Given the description of an element on the screen output the (x, y) to click on. 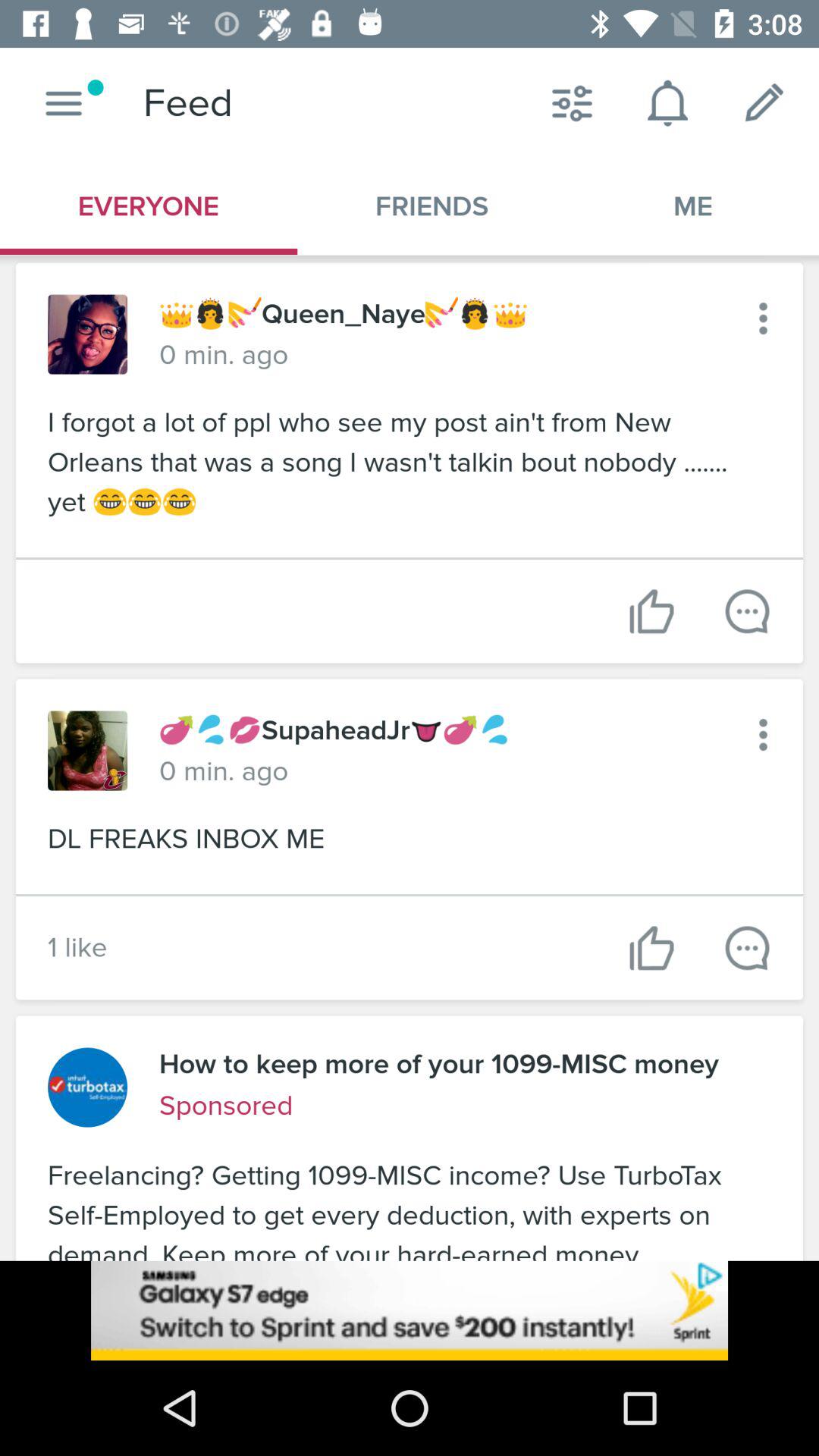
like (651, 947)
